Given the description of an element on the screen output the (x, y) to click on. 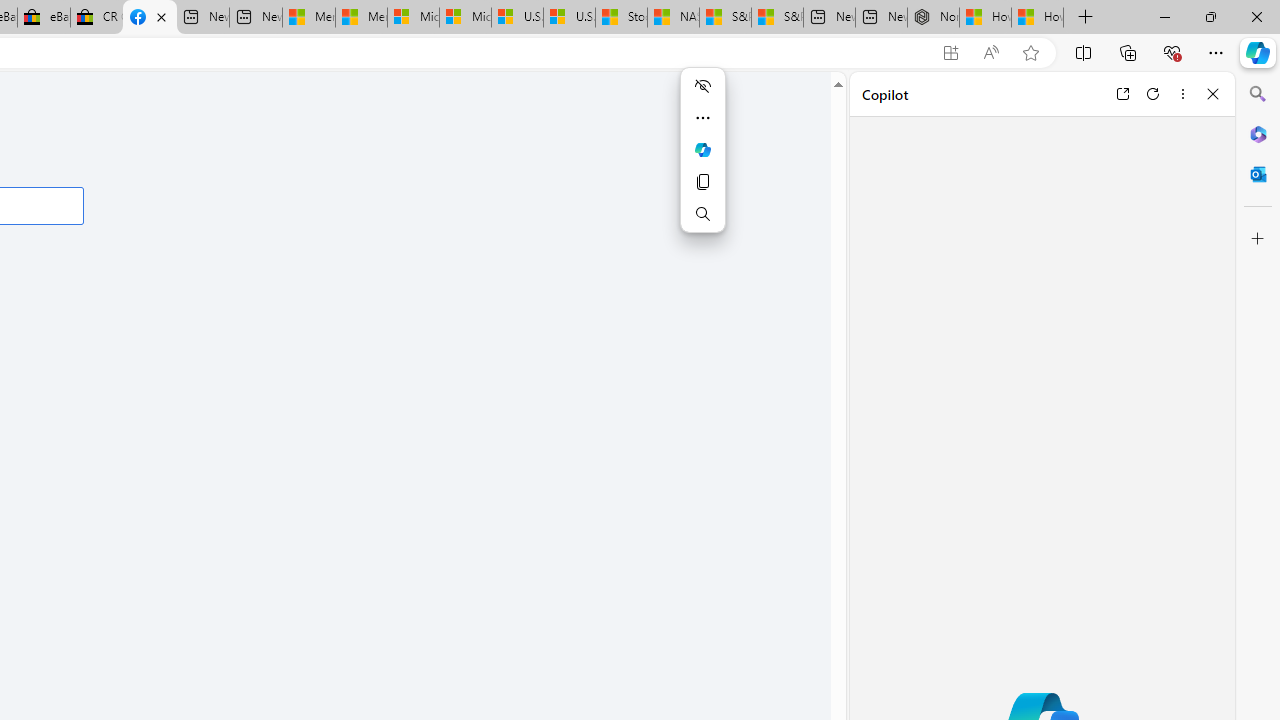
Ask Copilot (702, 149)
Mini menu on text selection (702, 149)
eBay Inc. Reports Third Quarter 2023 Results (43, 17)
Mini menu on text selection (702, 161)
